Given the description of an element on the screen output the (x, y) to click on. 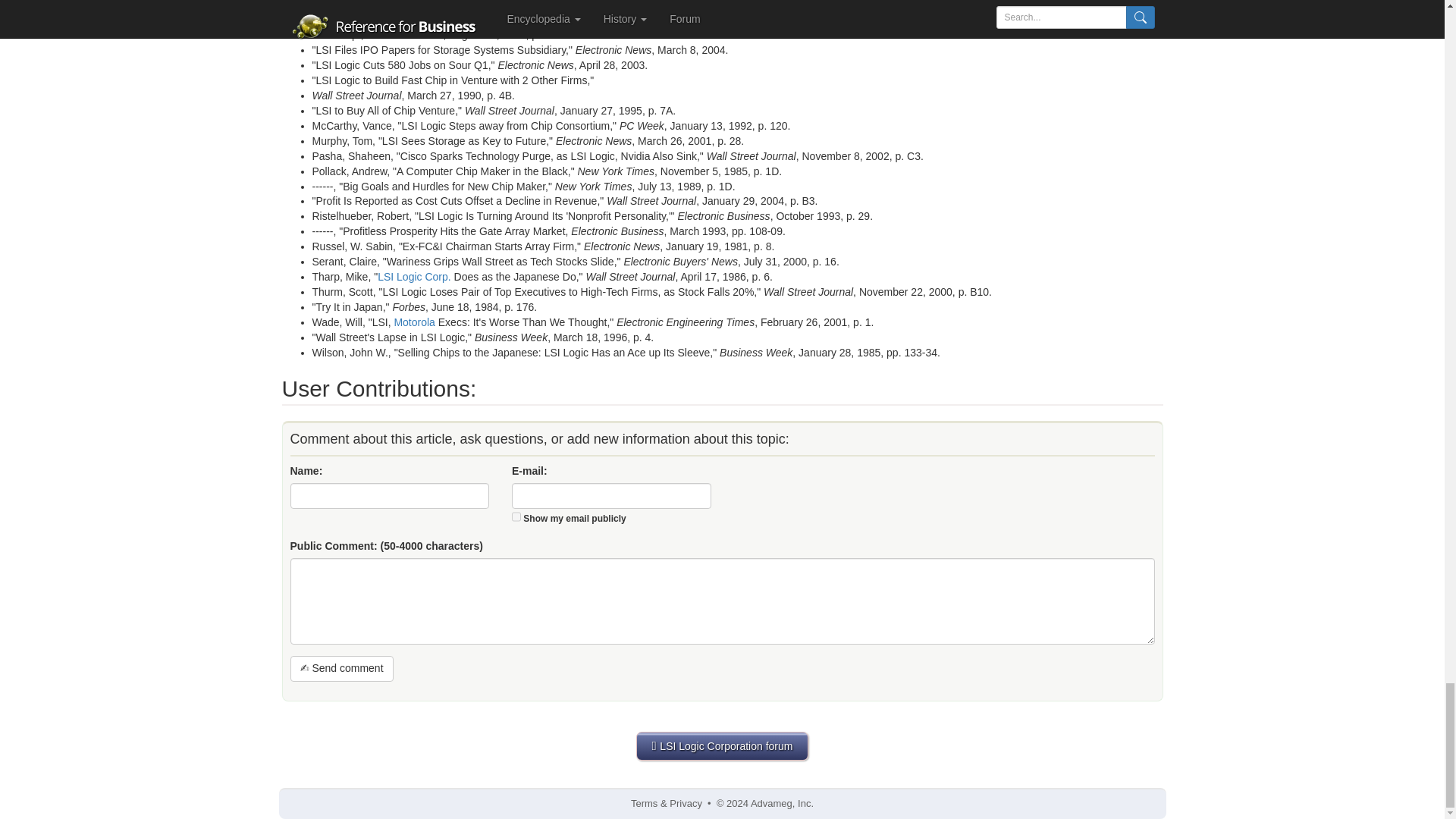
LSI Logic Corp. (414, 276)
View 'lsi logic corp.' definition from Wikipedia (414, 276)
LSI Logic Corporation forum (722, 746)
1 (516, 516)
Motorola (413, 322)
View 'motorola' definition from Wikipedia (413, 322)
